Given the description of an element on the screen output the (x, y) to click on. 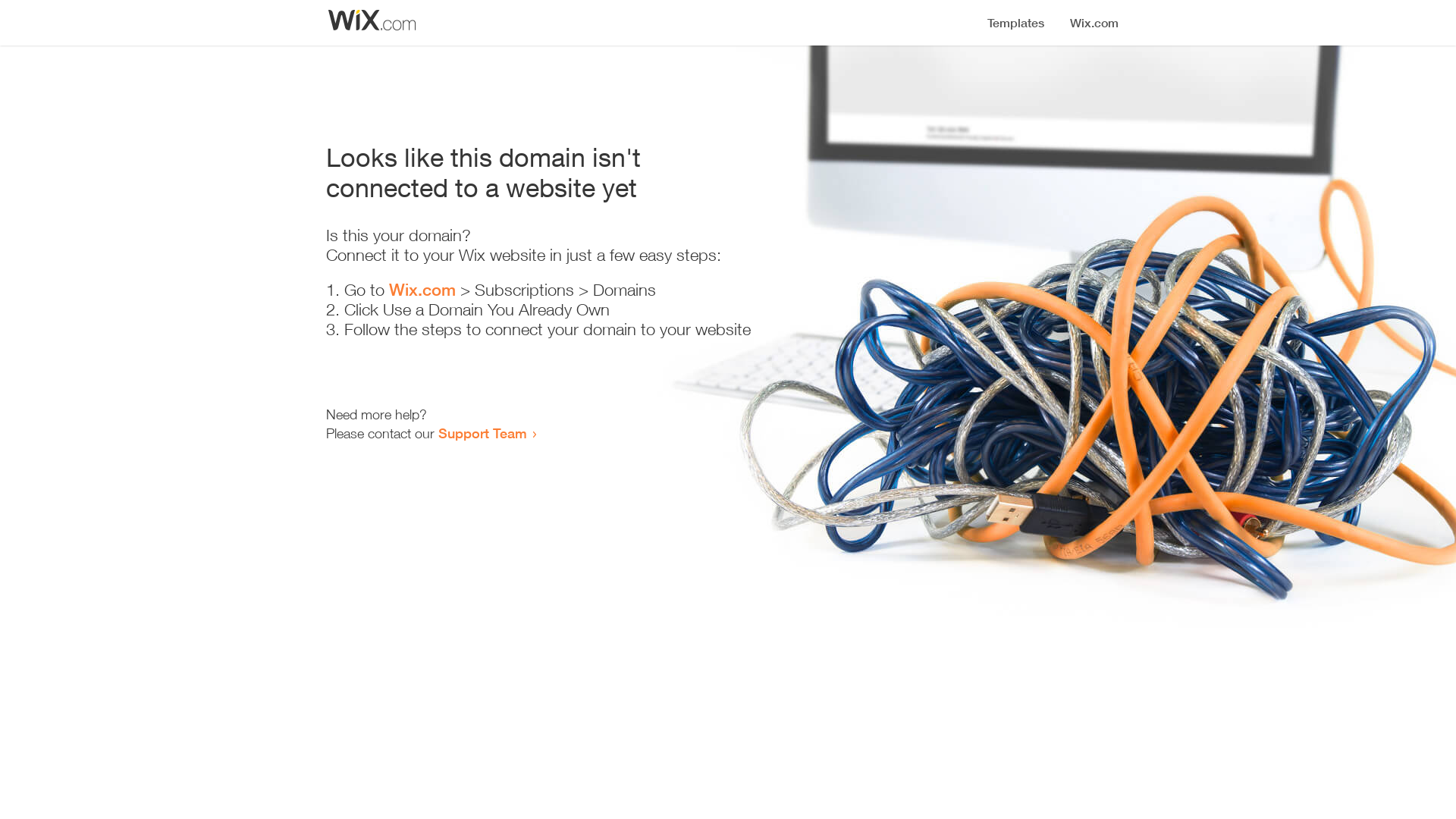
Wix.com Element type: text (422, 289)
Support Team Element type: text (482, 432)
